Given the description of an element on the screen output the (x, y) to click on. 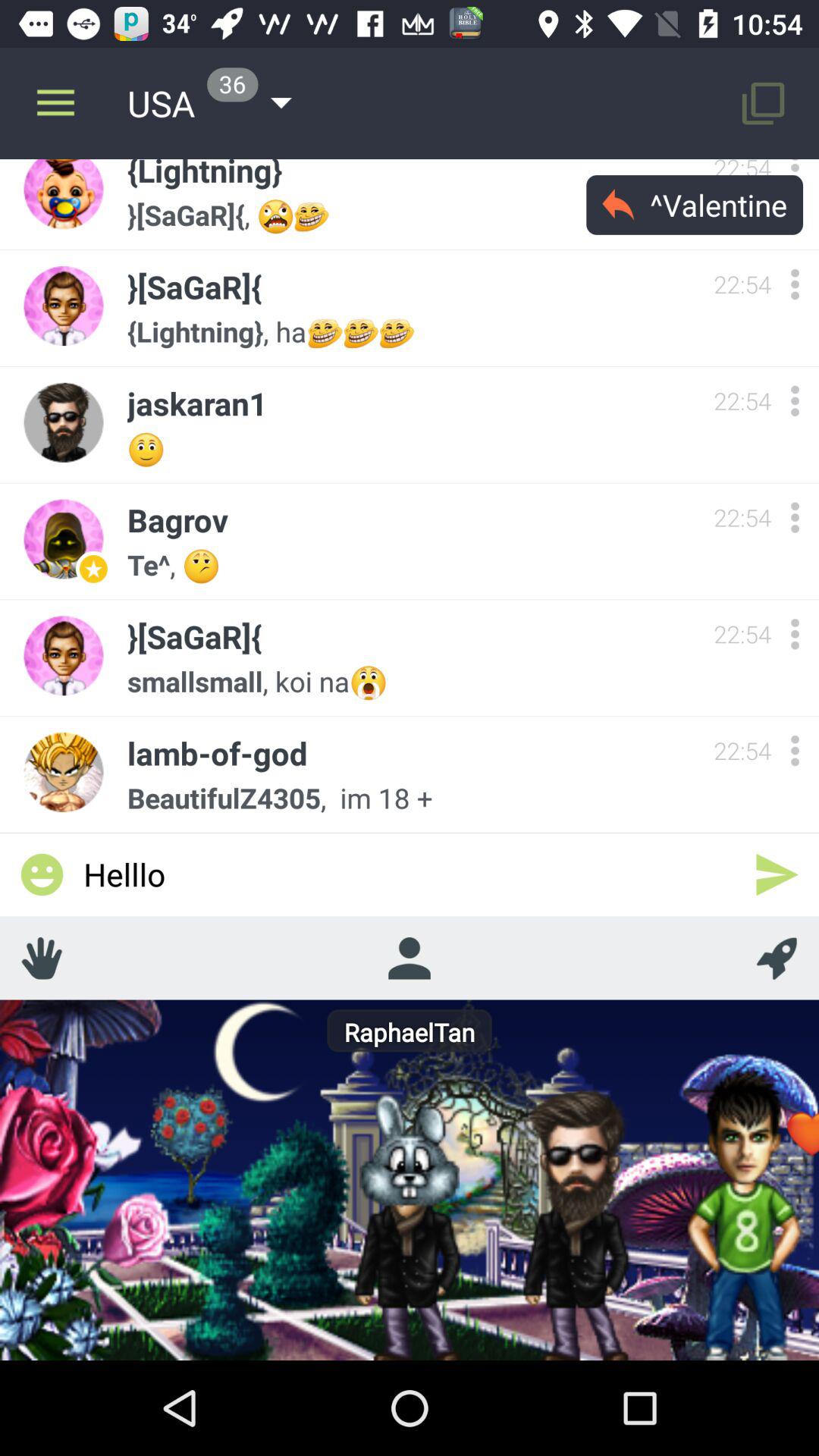
send a message (777, 874)
